Given the description of an element on the screen output the (x, y) to click on. 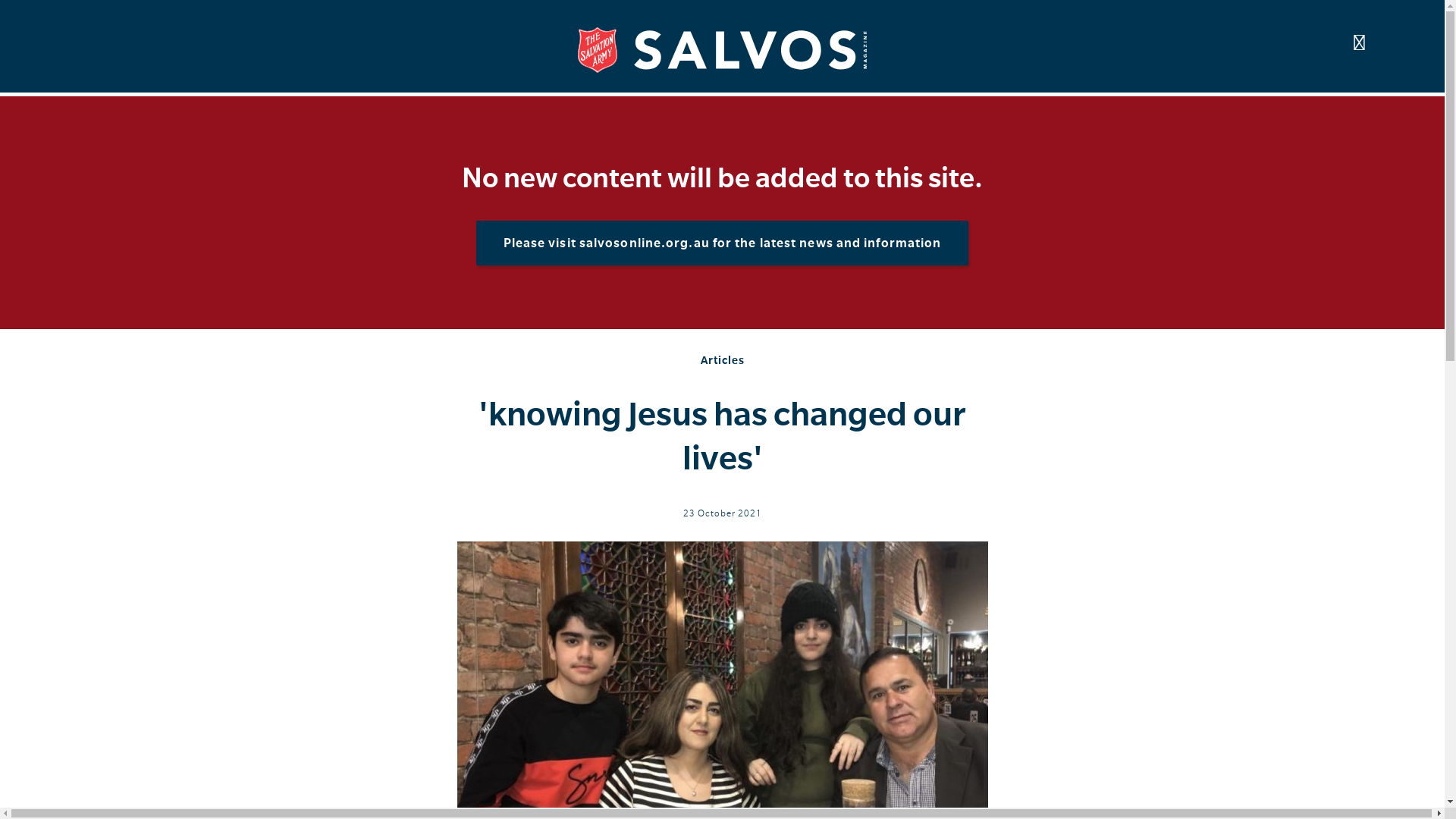
Articles Element type: text (722, 360)
